Given the description of an element on the screen output the (x, y) to click on. 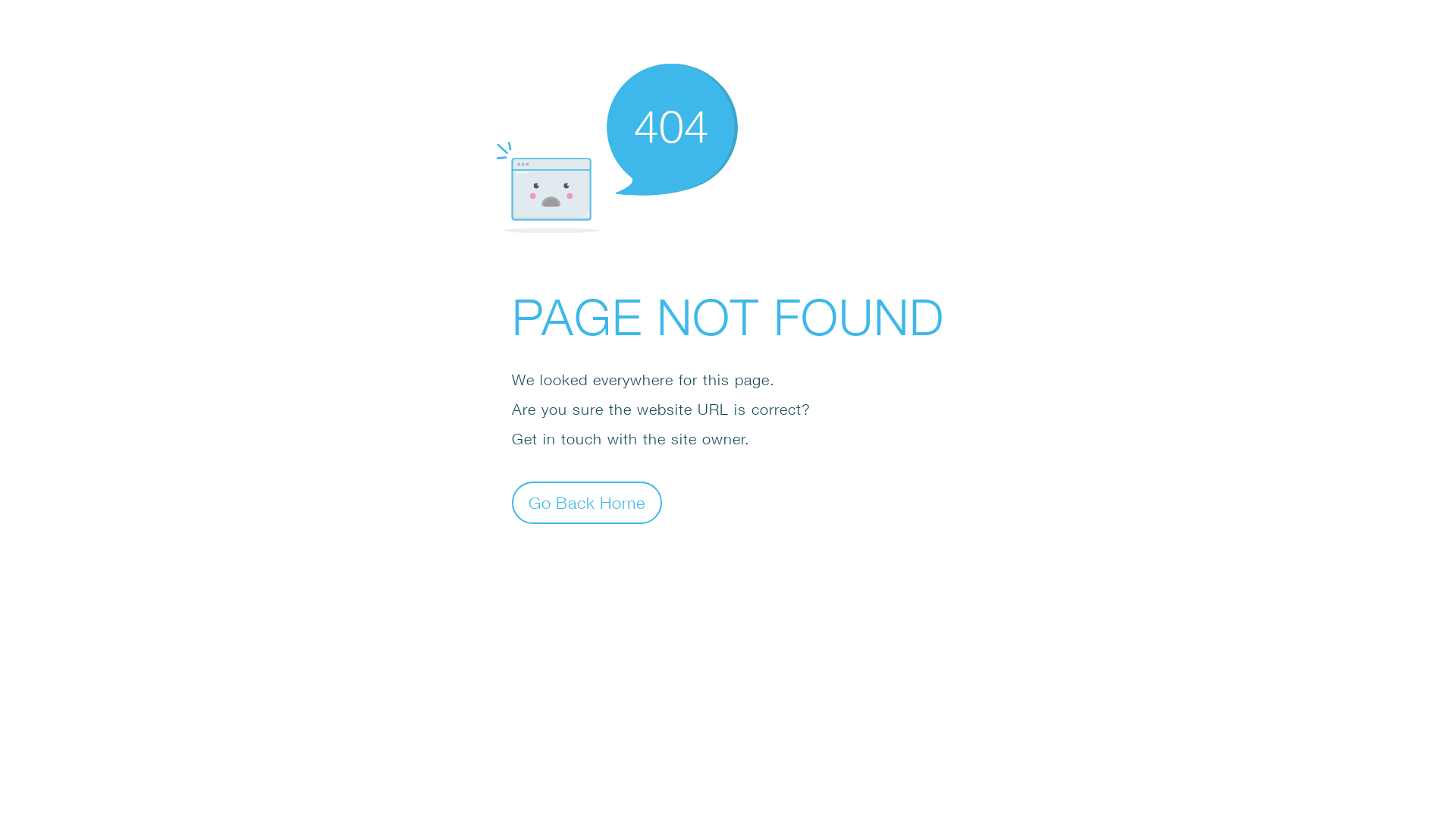
Go Back Home Element type: text (586, 502)
